Given the description of an element on the screen output the (x, y) to click on. 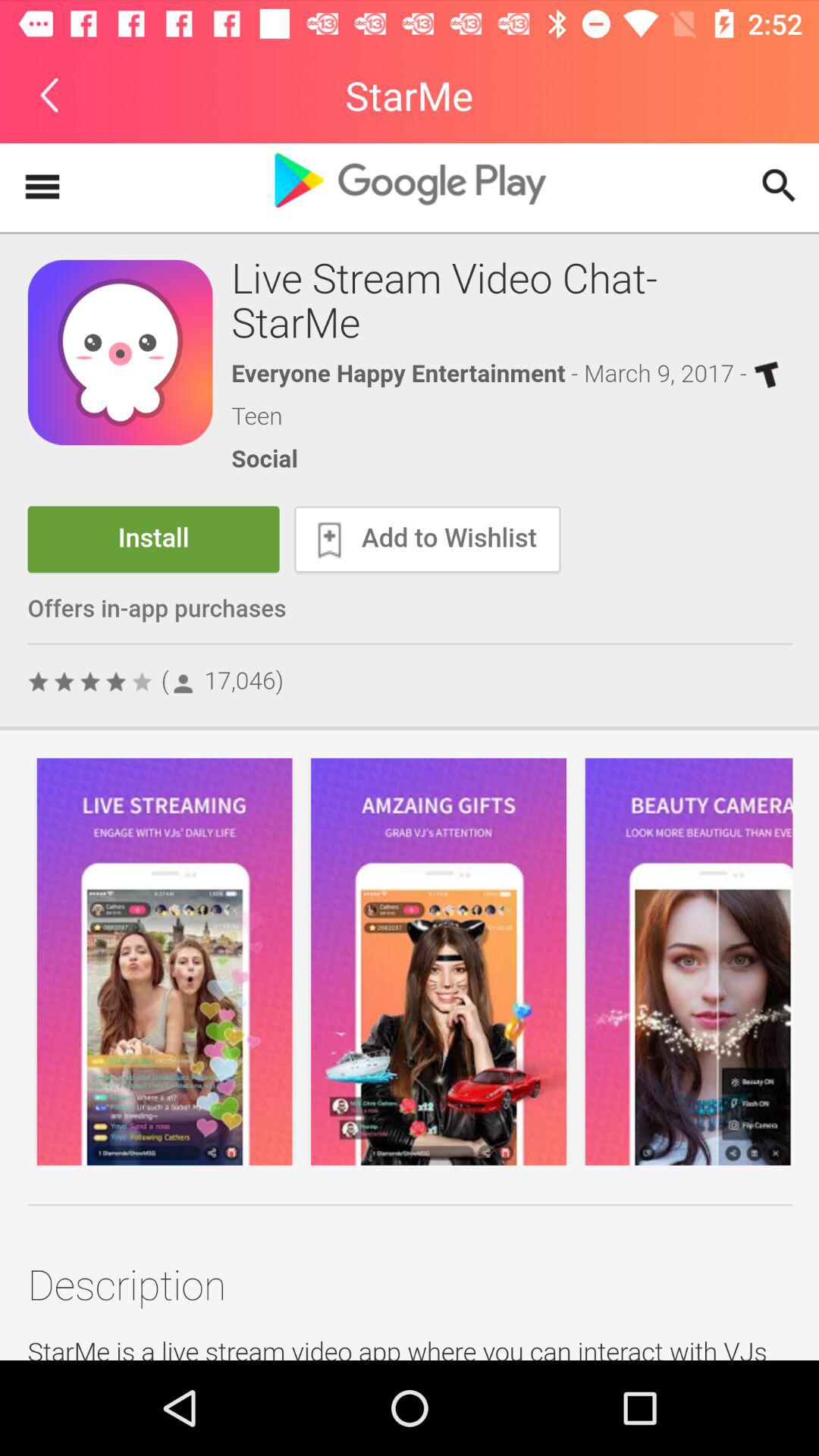
go to advertisement (409, 751)
